Given the description of an element on the screen output the (x, y) to click on. 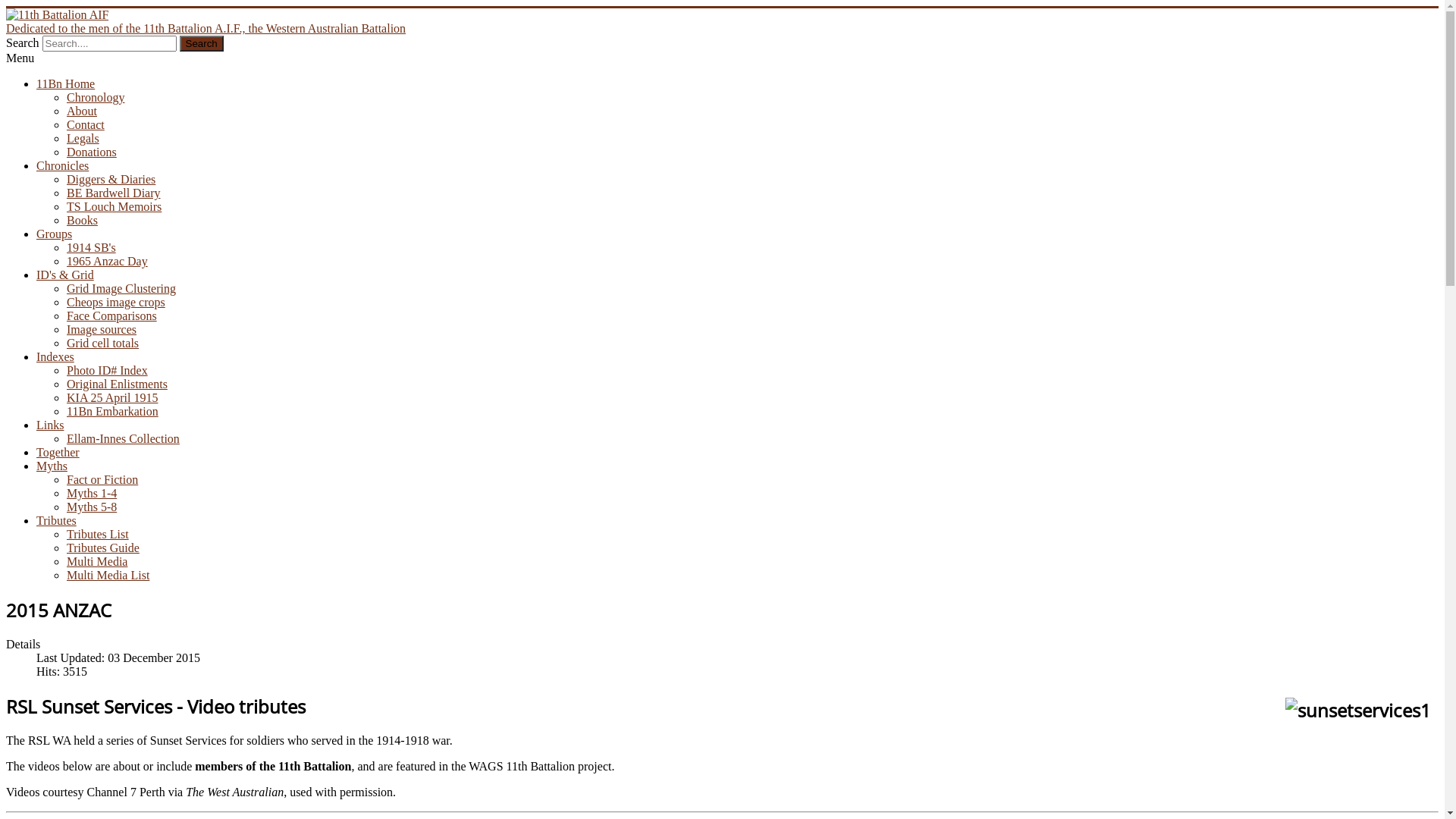
TS Louch Memoirs Element type: text (113, 206)
Chronicles Element type: text (62, 165)
Fact or Fiction Element type: text (102, 479)
Original Enlistments Element type: text (116, 383)
Links Element type: text (49, 424)
Search Element type: text (201, 43)
ID's & Grid Element type: text (65, 274)
Image sources Element type: text (101, 329)
11Bn Embarkation Element type: text (112, 410)
Grid cell totals Element type: text (102, 342)
Face Comparisons Element type: text (111, 315)
Chronology Element type: text (95, 97)
Tributes List Element type: text (97, 533)
Together Element type: text (57, 451)
1914 SB's Element type: text (91, 247)
Legals Element type: text (82, 137)
Donations Element type: text (91, 151)
Photo ID# Index Element type: text (106, 370)
Multi Media Element type: text (96, 561)
Myths 1-4 Element type: text (91, 492)
BE Bardwell Diary Element type: text (113, 192)
1965 Anzac Day Element type: text (106, 260)
Tributes Element type: text (56, 520)
Contact Element type: text (85, 124)
Ellam-Innes Collection Element type: text (122, 438)
11Bn Home Element type: text (65, 83)
Diggers & Diaries Element type: text (110, 178)
About Element type: text (81, 110)
Multi Media List Element type: text (107, 574)
Indexes Element type: text (55, 356)
Myths Element type: text (51, 465)
Groups Element type: text (54, 233)
KIA 25 April 1915 Element type: text (111, 397)
Books Element type: text (81, 219)
Tributes Guide Element type: text (102, 547)
Myths 5-8 Element type: text (91, 506)
Cheops image crops Element type: text (115, 301)
Grid Image Clustering Element type: text (120, 288)
